Given the description of an element on the screen output the (x, y) to click on. 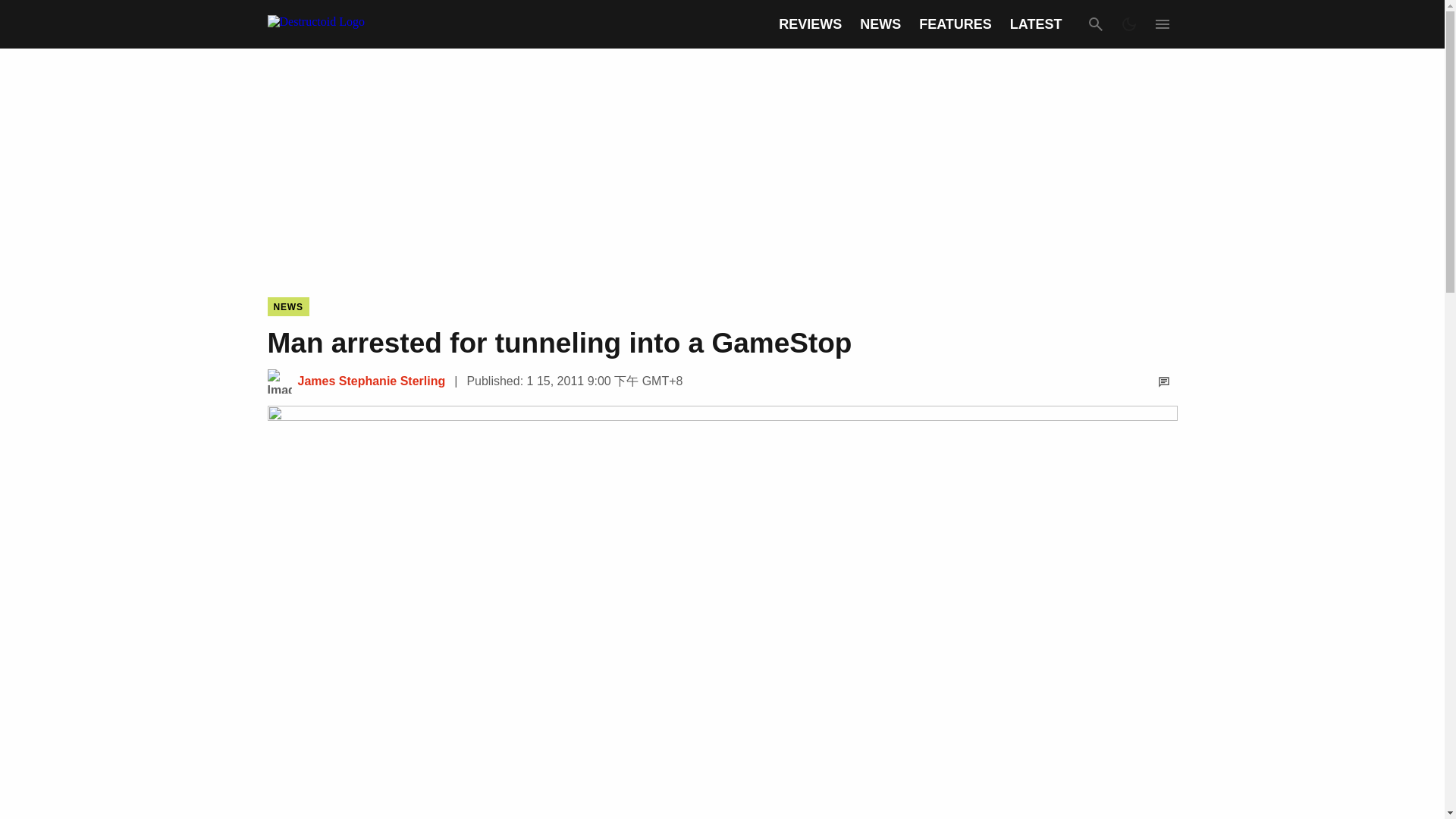
LATEST (1036, 23)
REVIEWS (809, 23)
NEWS (880, 23)
Expand Menu (1161, 24)
Dark Mode (1127, 24)
Search (1094, 24)
FEATURES (954, 23)
NEWS (287, 306)
